Given the description of an element on the screen output the (x, y) to click on. 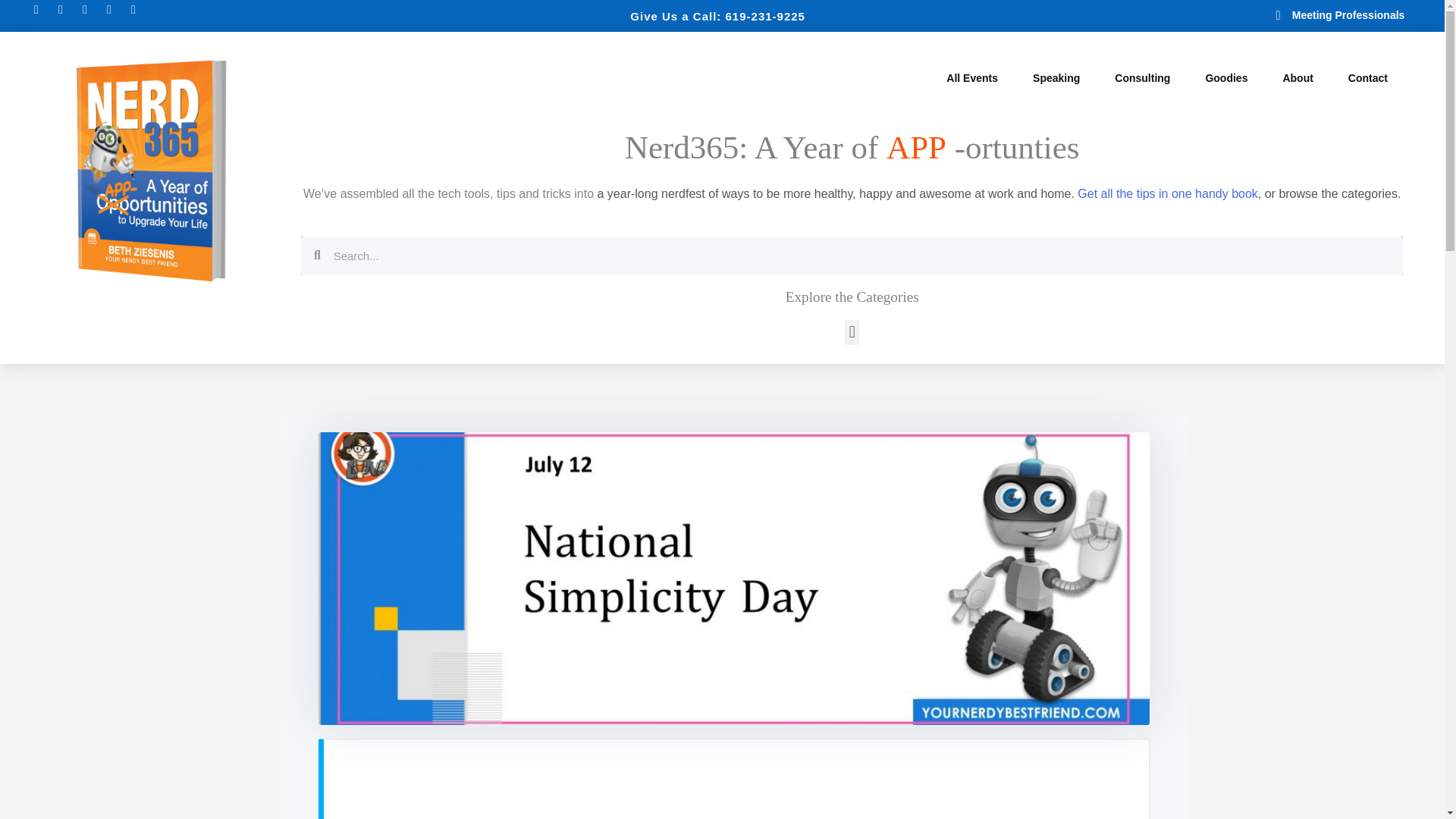
Speaking (1055, 78)
Meeting Professionals (1294, 15)
Get all the tips in one handy book (1167, 193)
All Events (972, 78)
Search (861, 255)
Consulting (1142, 78)
Contact (1368, 78)
Goodies (1225, 78)
